Given the description of an element on the screen output the (x, y) to click on. 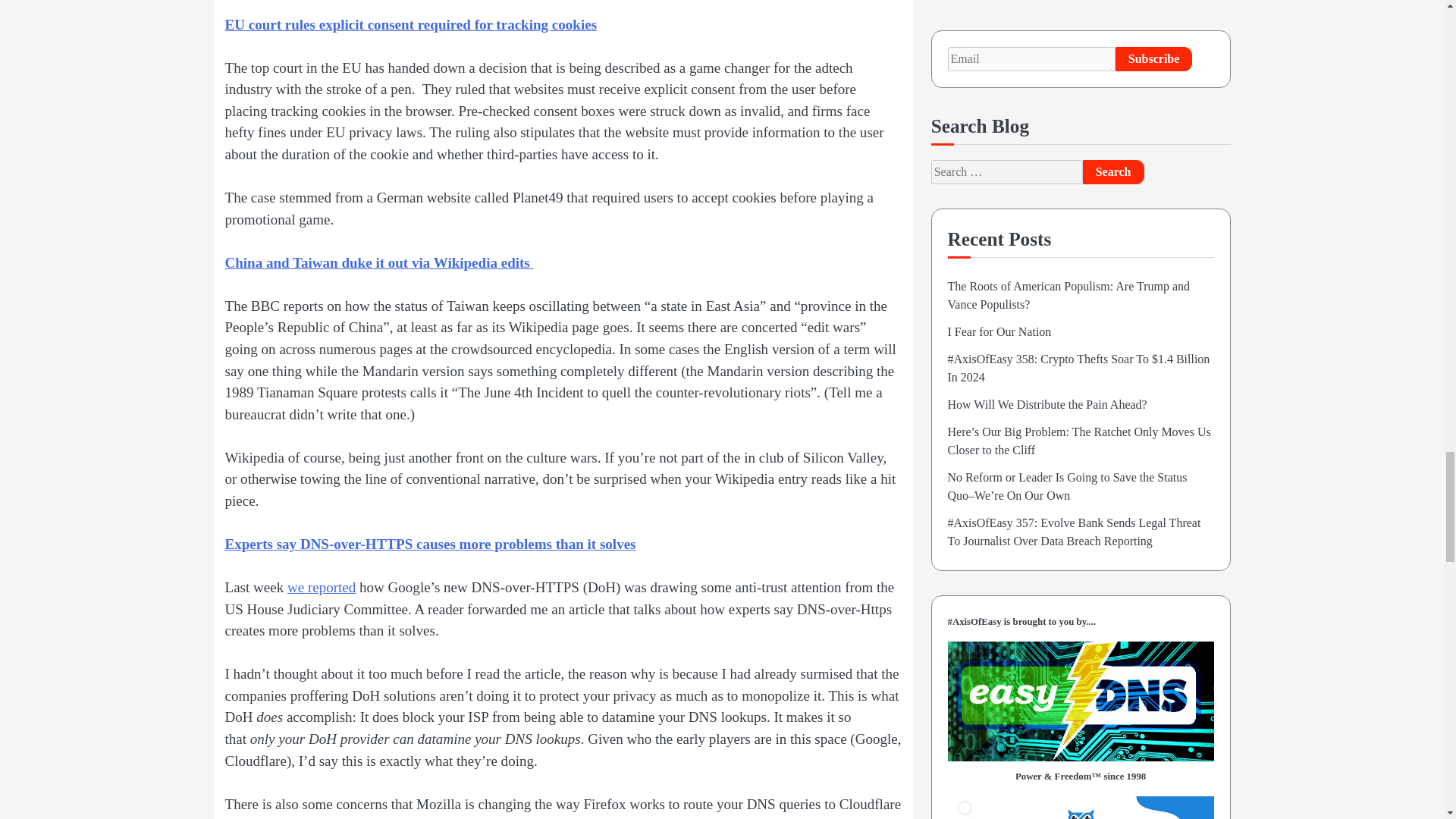
we reported (320, 587)
China and Taiwan duke it out via Wikipedia edits  (378, 262)
